Given the description of an element on the screen output the (x, y) to click on. 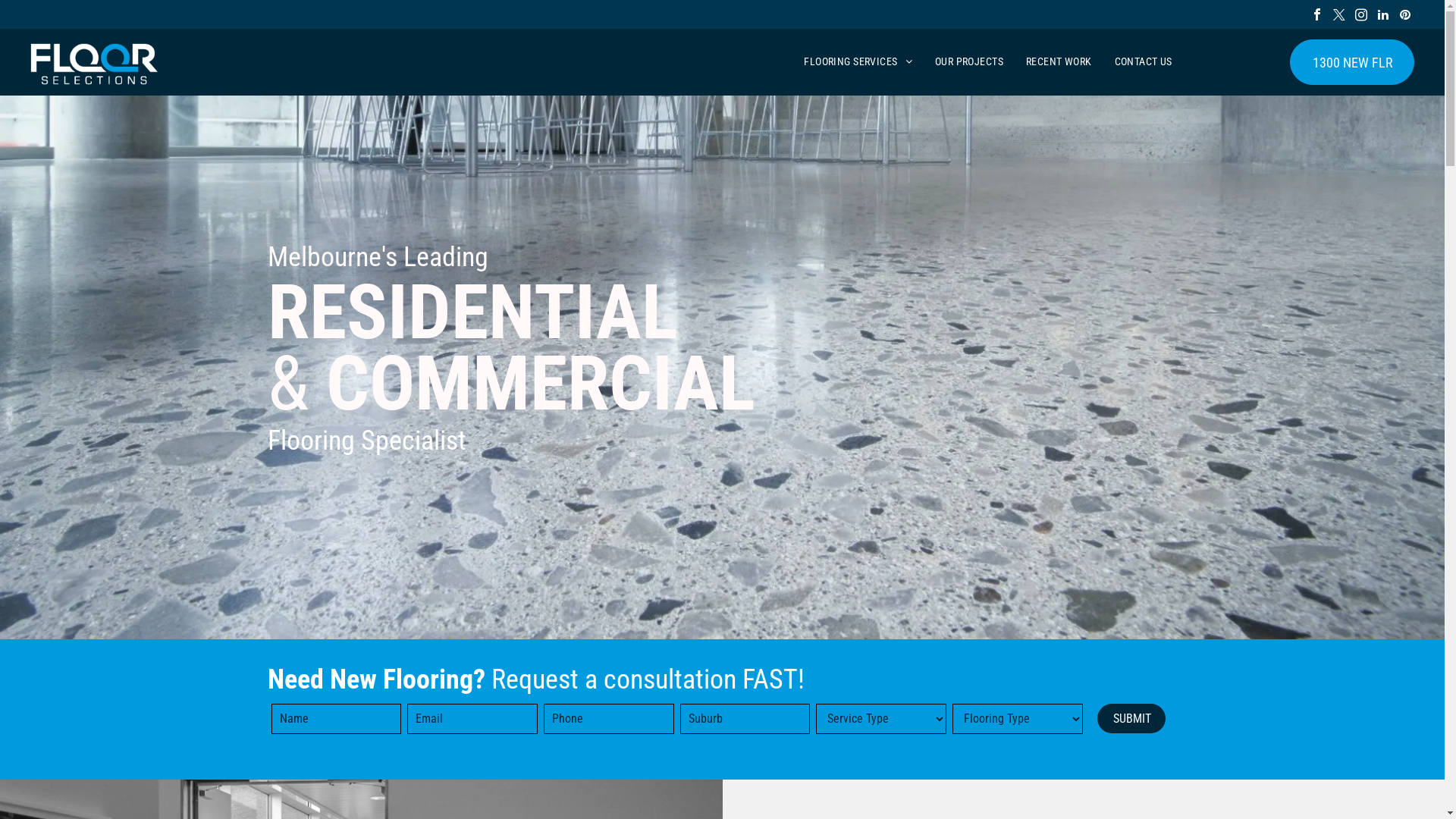
RECENT WORK Element type: text (1058, 61)
SUBMIT Element type: text (1131, 718)
OUR PROJECTS Element type: text (968, 61)
CONTACT US Element type: text (1143, 61)
FLOORING SERVICES Element type: text (857, 61)
1300 NEW FLR Element type: text (1351, 61)
